Given the description of an element on the screen output the (x, y) to click on. 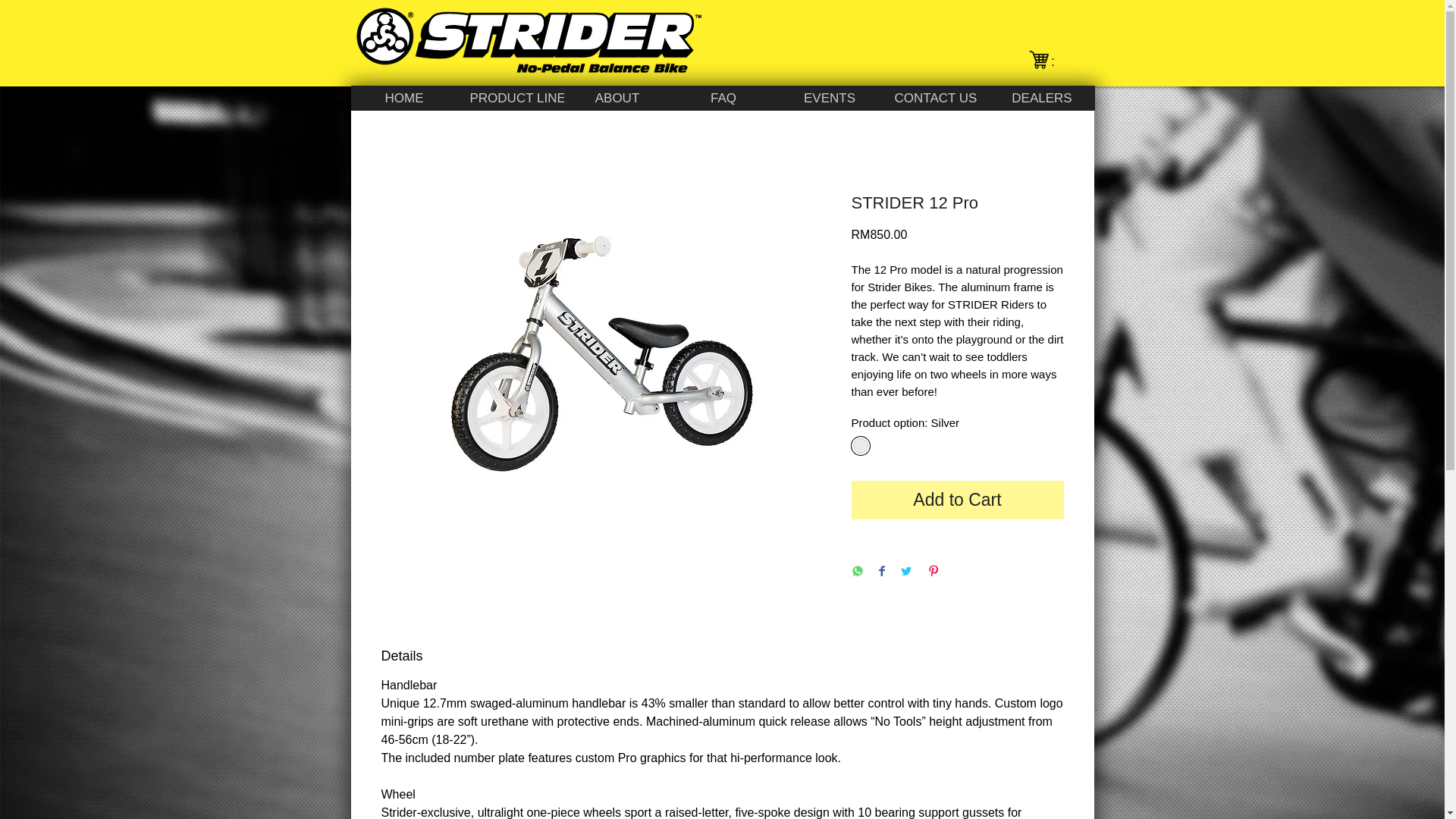
Add to Cart (956, 499)
ABOUT (616, 97)
EVENTS (829, 97)
: (1063, 60)
: (1063, 60)
CONTACT US (935, 97)
FAQ (722, 97)
PRODUCT LINE (511, 97)
DEALERS (1041, 97)
HOME (403, 97)
